Given the description of an element on the screen output the (x, y) to click on. 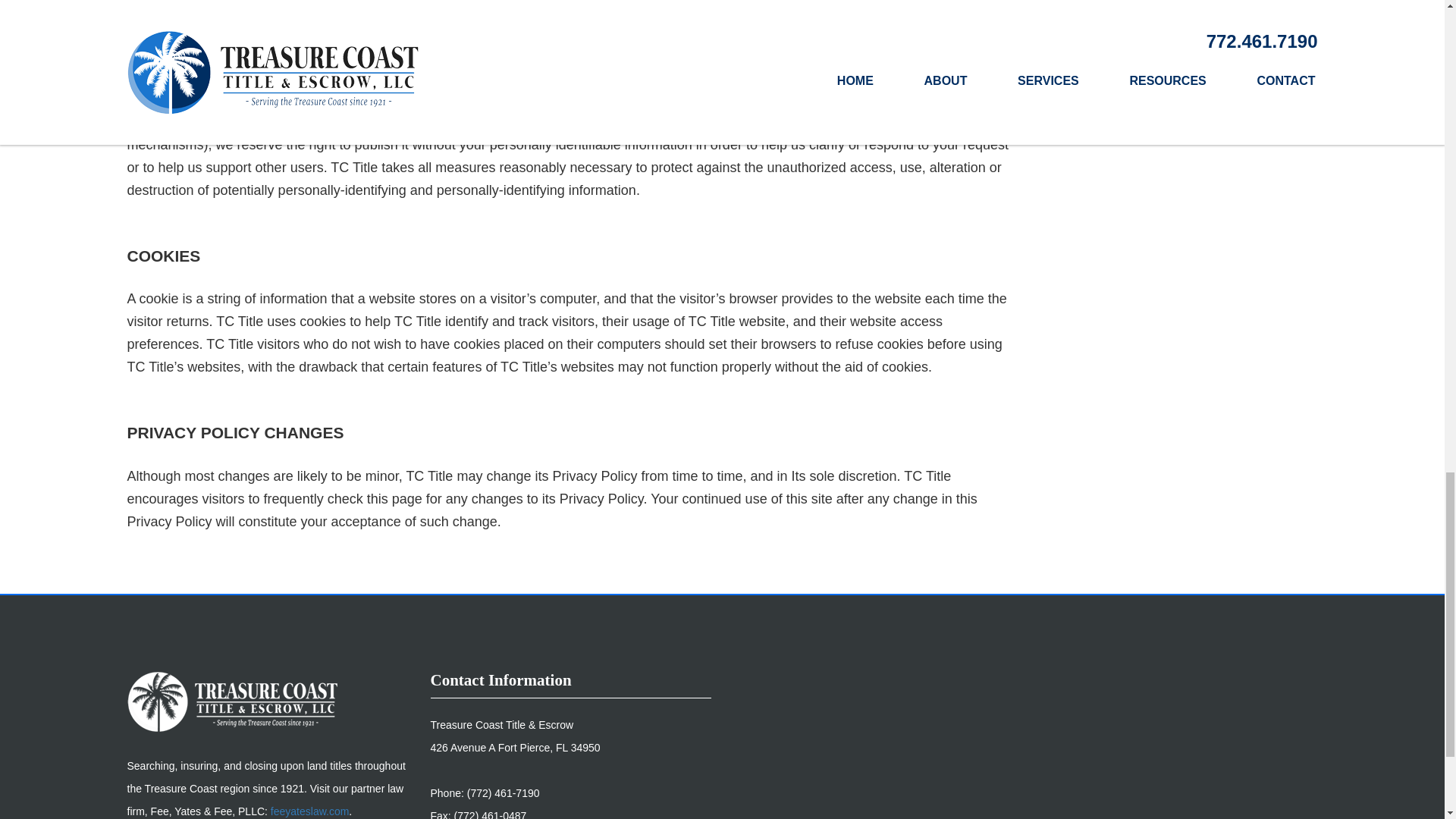
feeyateslaw.com (309, 811)
